Given the description of an element on the screen output the (x, y) to click on. 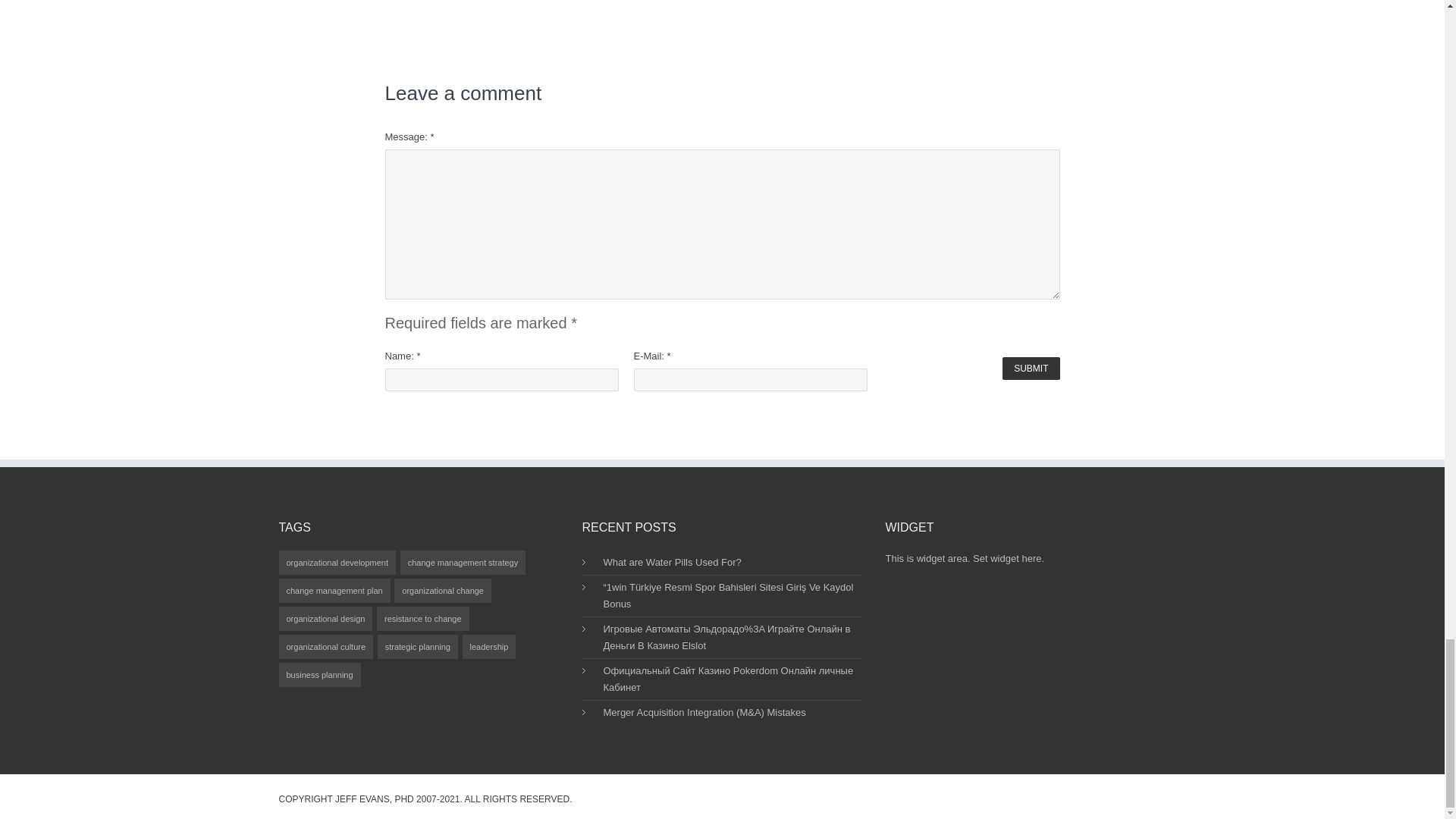
Submit (1031, 368)
